Given the description of an element on the screen output the (x, y) to click on. 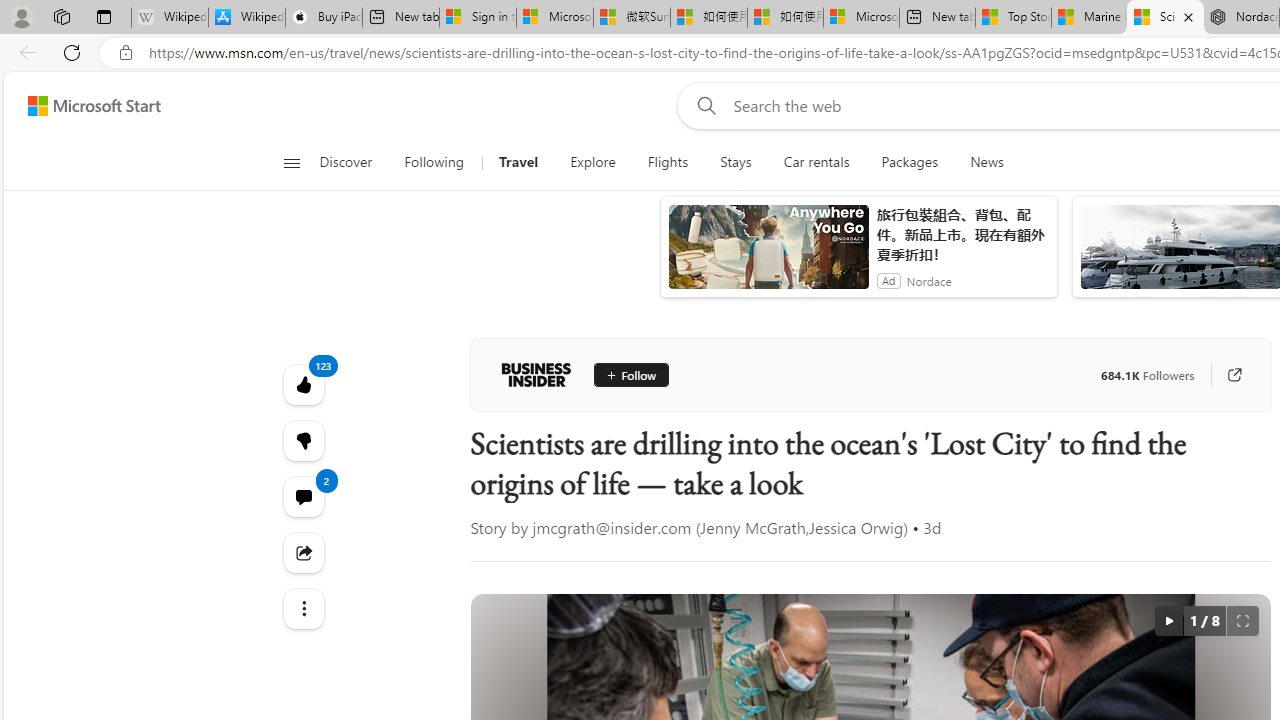
Buy iPad - Apple (323, 17)
